Given the description of an element on the screen output the (x, y) to click on. 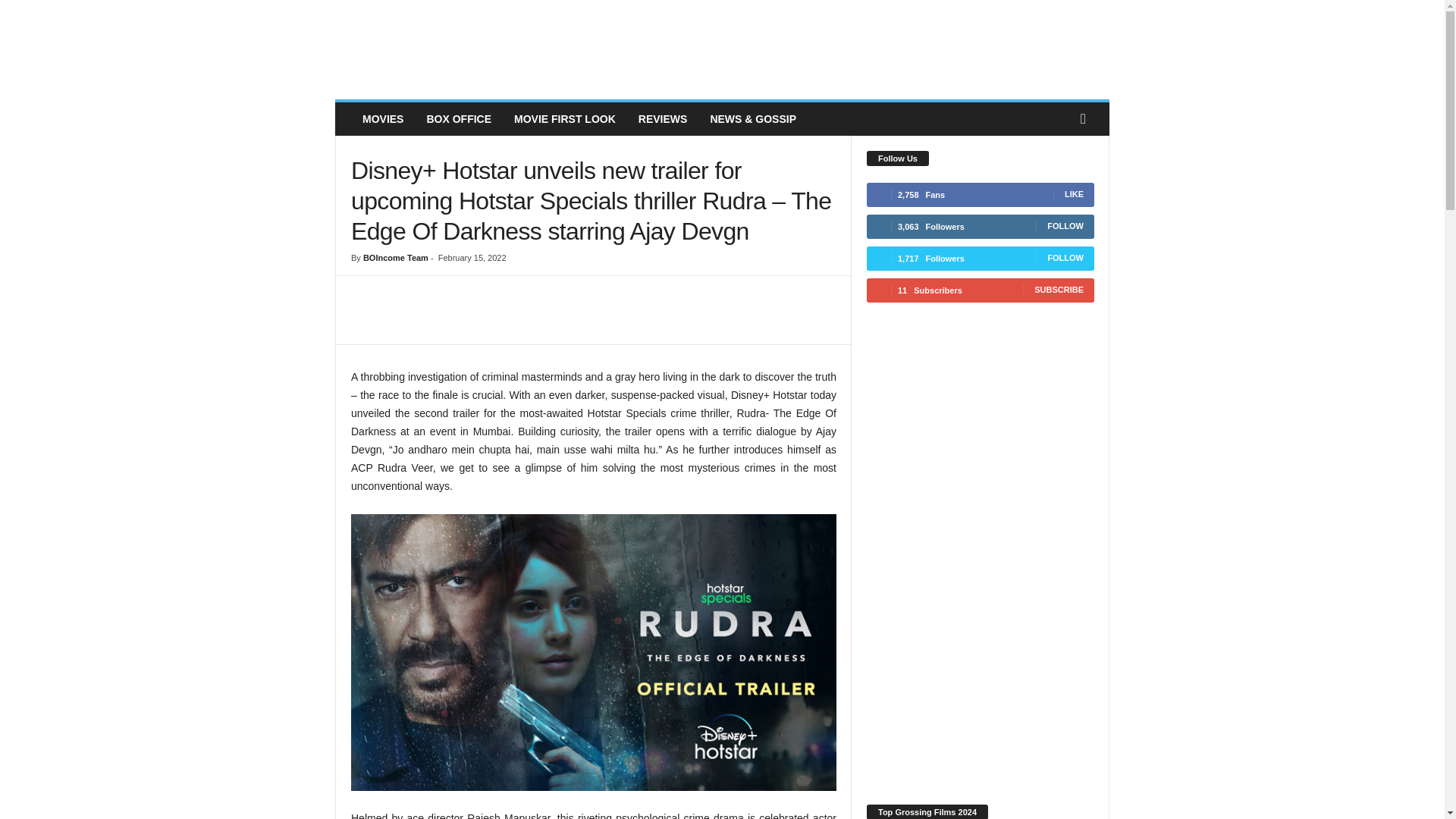
MOVIES (382, 118)
topFacebookLike (390, 291)
MOVIE FIRST LOOK (564, 118)
BOX OFFICE (458, 118)
REVIEWS (662, 118)
